Given the description of an element on the screen output the (x, y) to click on. 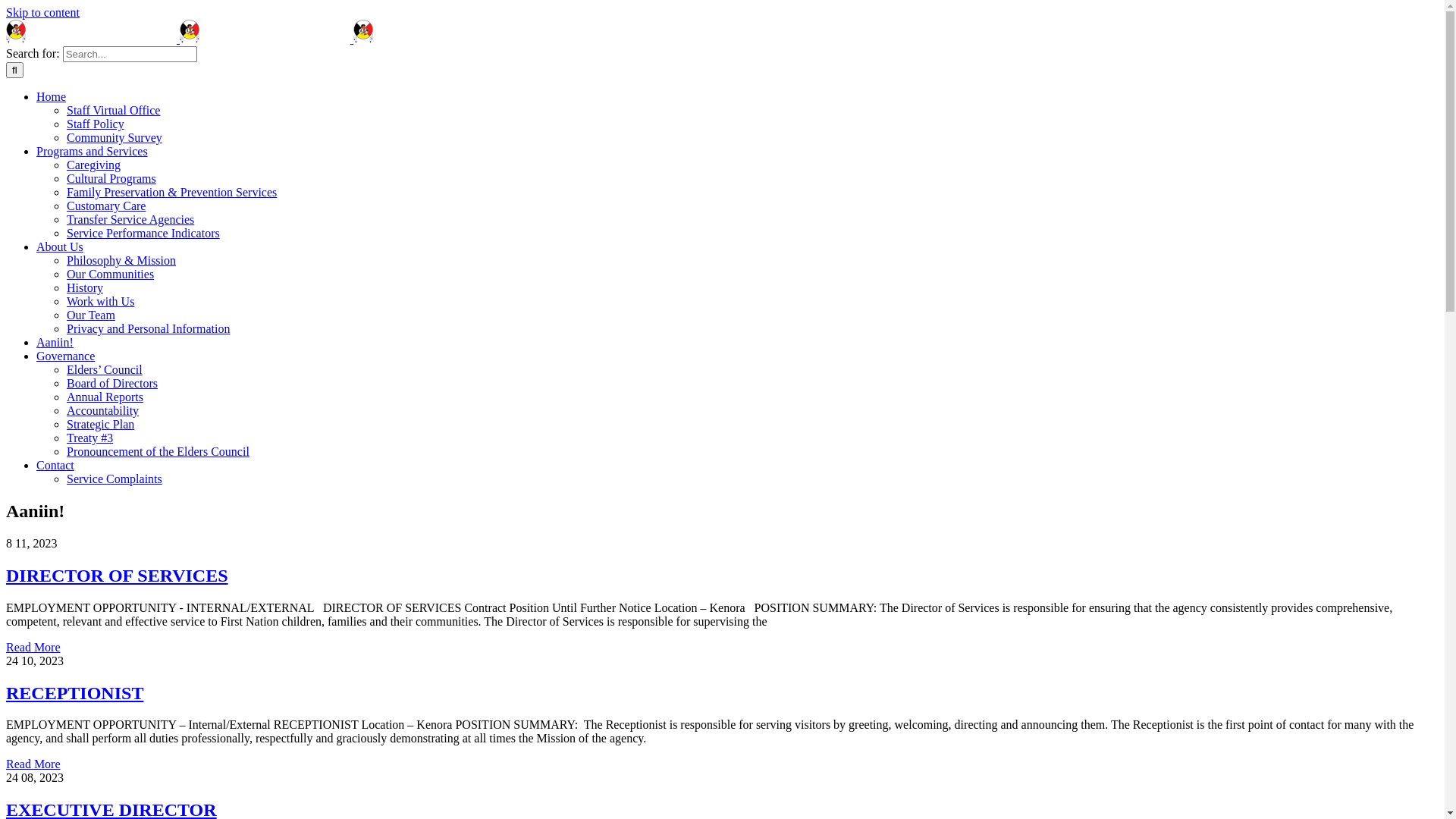
Accountability Element type: text (102, 410)
RECEPTIONIST Element type: text (74, 692)
Family Preservation & Prevention Services Element type: text (171, 191)
Cultural Programs Element type: text (111, 178)
Philosophy & Mission Element type: text (120, 260)
Annual Reports Element type: text (104, 396)
Strategic Plan Element type: text (100, 423)
Pronouncement of the Elders Council Element type: text (157, 451)
Community Survey Element type: text (114, 137)
Privacy and Personal Information Element type: text (148, 328)
Staff Policy Element type: text (95, 123)
Skip to content Element type: text (42, 12)
Our Communities Element type: text (109, 273)
Our Team Element type: text (90, 314)
Programs and Services Element type: text (91, 150)
Treaty #3 Element type: text (89, 437)
Board of Directors Element type: text (111, 382)
Staff Virtual Office Element type: text (113, 109)
Governance Element type: text (65, 355)
DIRECTOR OF SERVICES Element type: text (117, 575)
Work with Us Element type: text (100, 300)
History Element type: text (84, 287)
Service Performance Indicators Element type: text (142, 232)
Read More Element type: text (33, 646)
Service Complaints Element type: text (114, 478)
Contact Element type: text (55, 464)
Home Element type: text (50, 96)
About Us Element type: text (59, 246)
Caregiving Element type: text (93, 164)
Transfer Service Agencies Element type: text (130, 219)
Customary Care Element type: text (105, 205)
Aaniin! Element type: text (54, 341)
Read More Element type: text (33, 763)
